Given the description of an element on the screen output the (x, y) to click on. 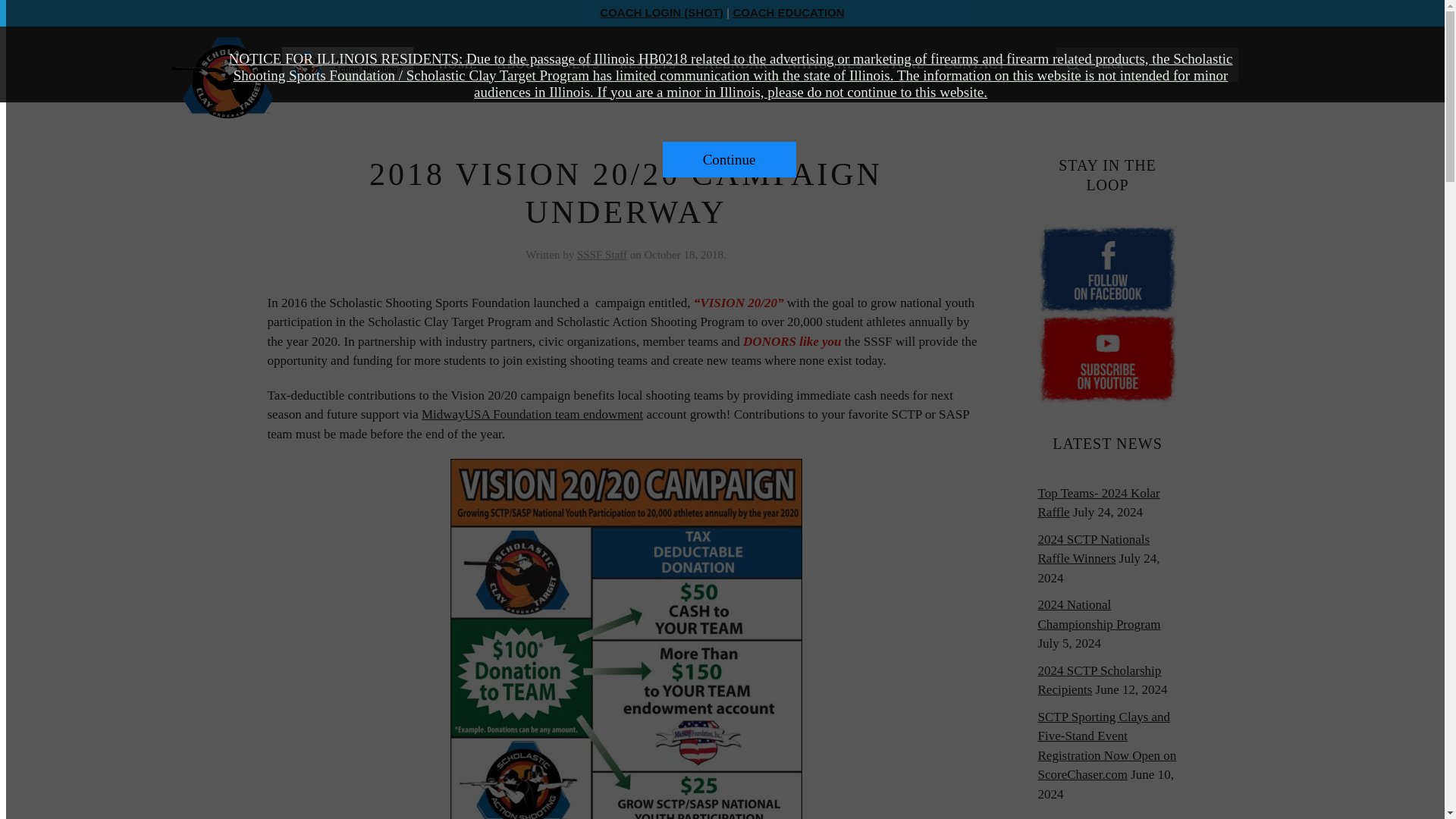
RESULTS (647, 64)
CALENDAR (731, 64)
COACH EDUCATION (788, 11)
NATIONALS (824, 64)
